Given the description of an element on the screen output the (x, y) to click on. 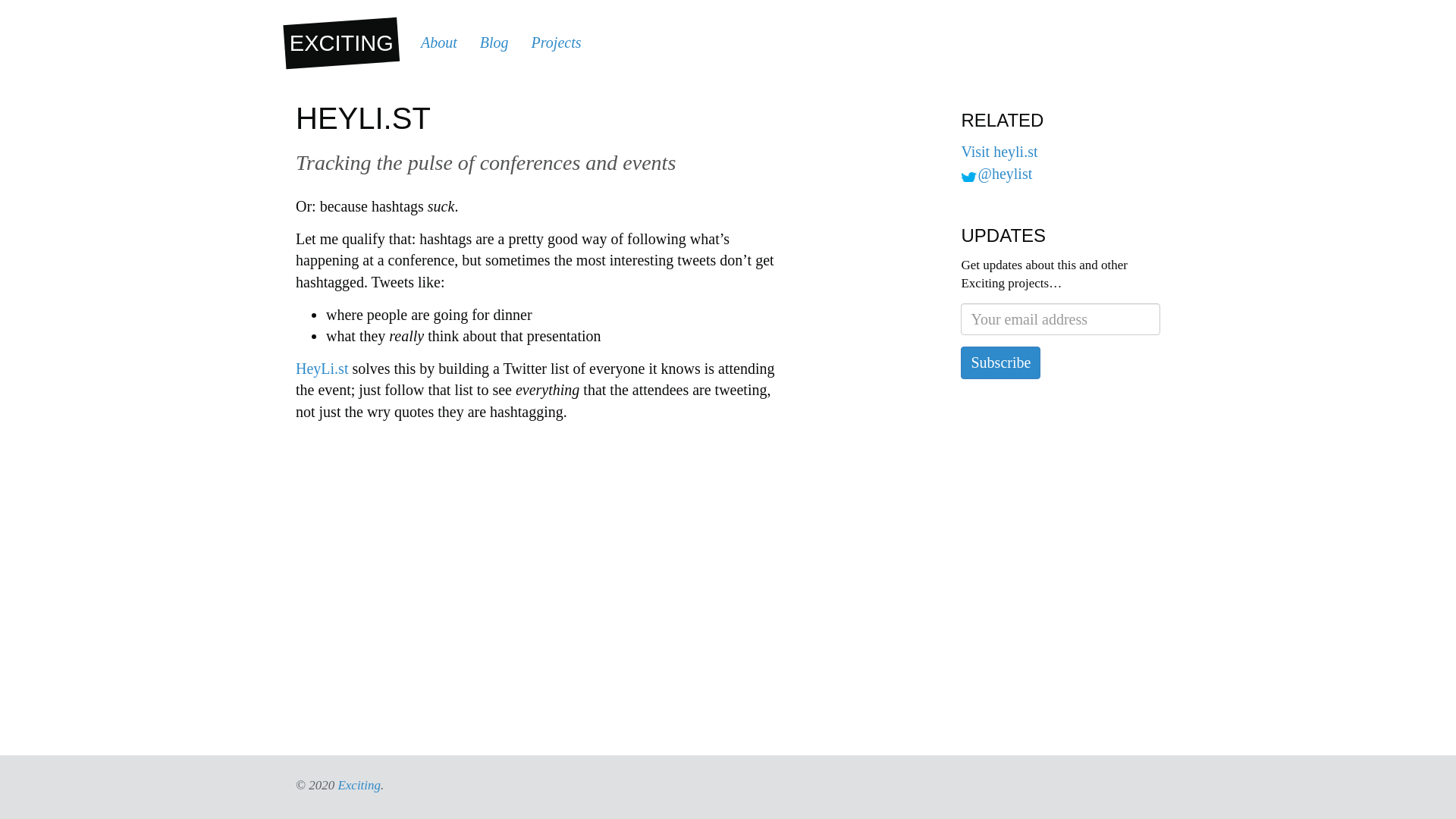
Exciting (358, 785)
Subscribe (1000, 362)
EXCITING (339, 39)
Subscribe (1000, 362)
Blog (494, 42)
HeyLi.st (321, 368)
Projects (555, 42)
About (438, 42)
Visit heyli.st (998, 151)
